Given the description of an element on the screen output the (x, y) to click on. 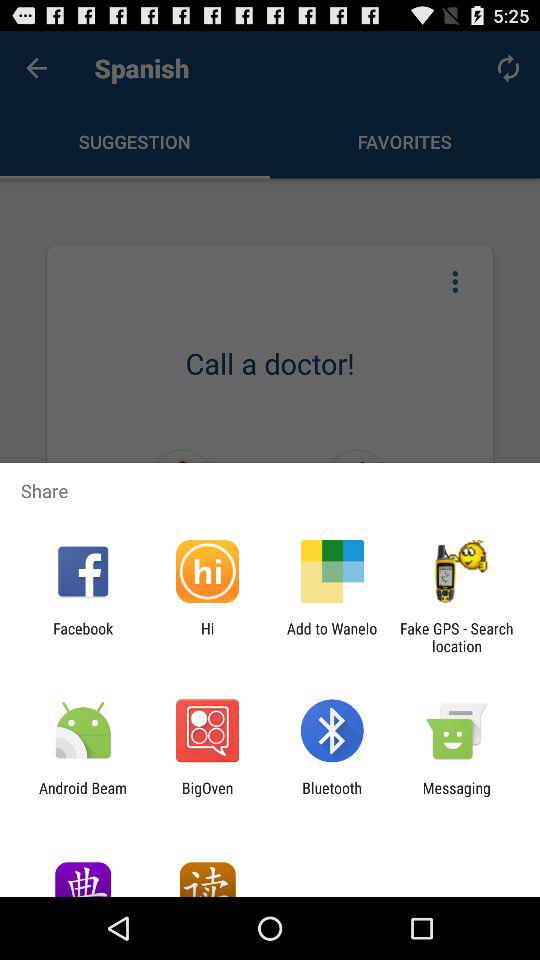
press item next to hi item (83, 637)
